Given the description of an element on the screen output the (x, y) to click on. 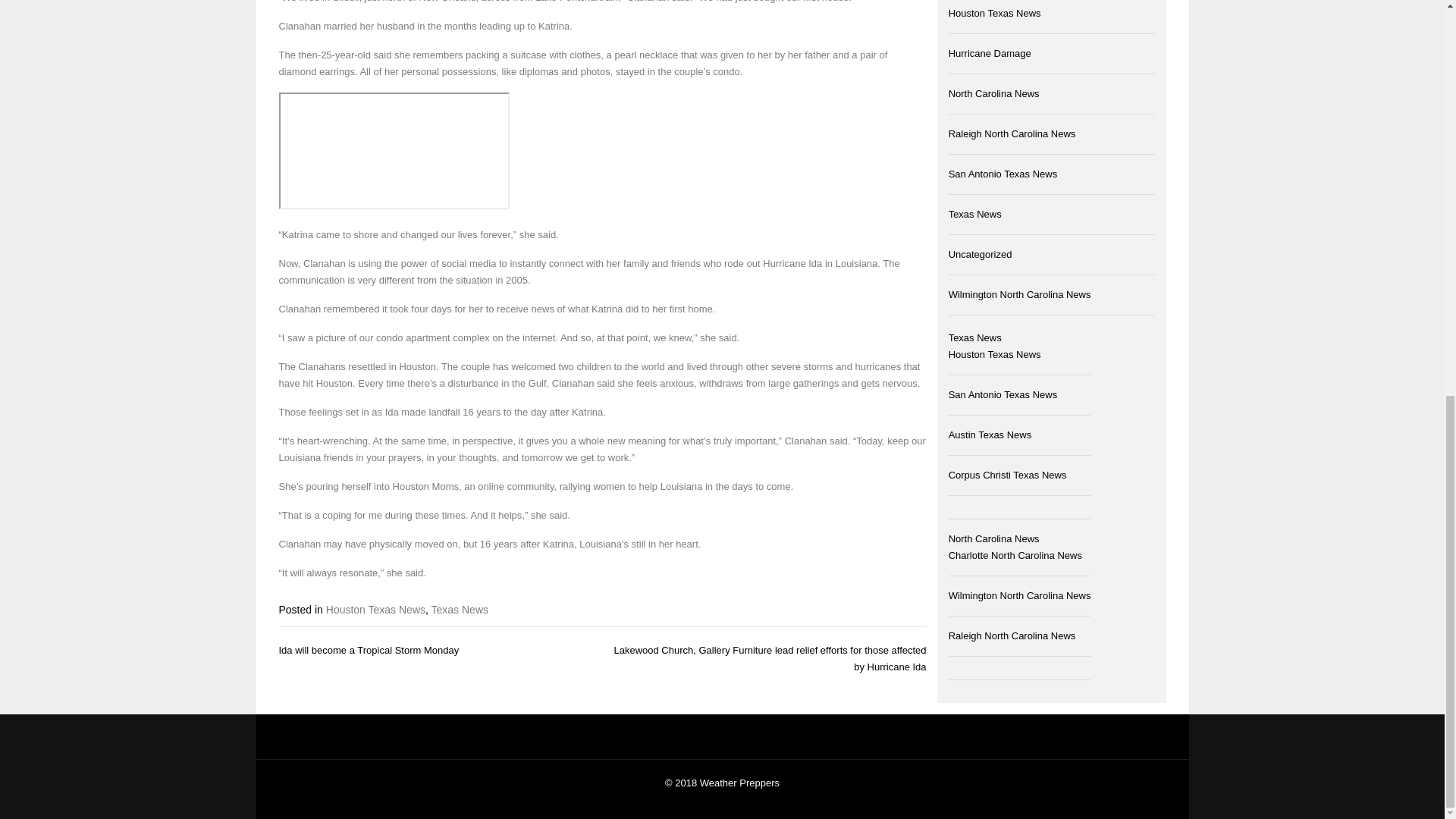
Houston Texas News (375, 609)
Texas News (458, 609)
Slidell (346, 1)
Lake Pontchartrain (576, 1)
Ida will become a Tropical Storm Monday (369, 650)
New Orleans (447, 1)
